Given the description of an element on the screen output the (x, y) to click on. 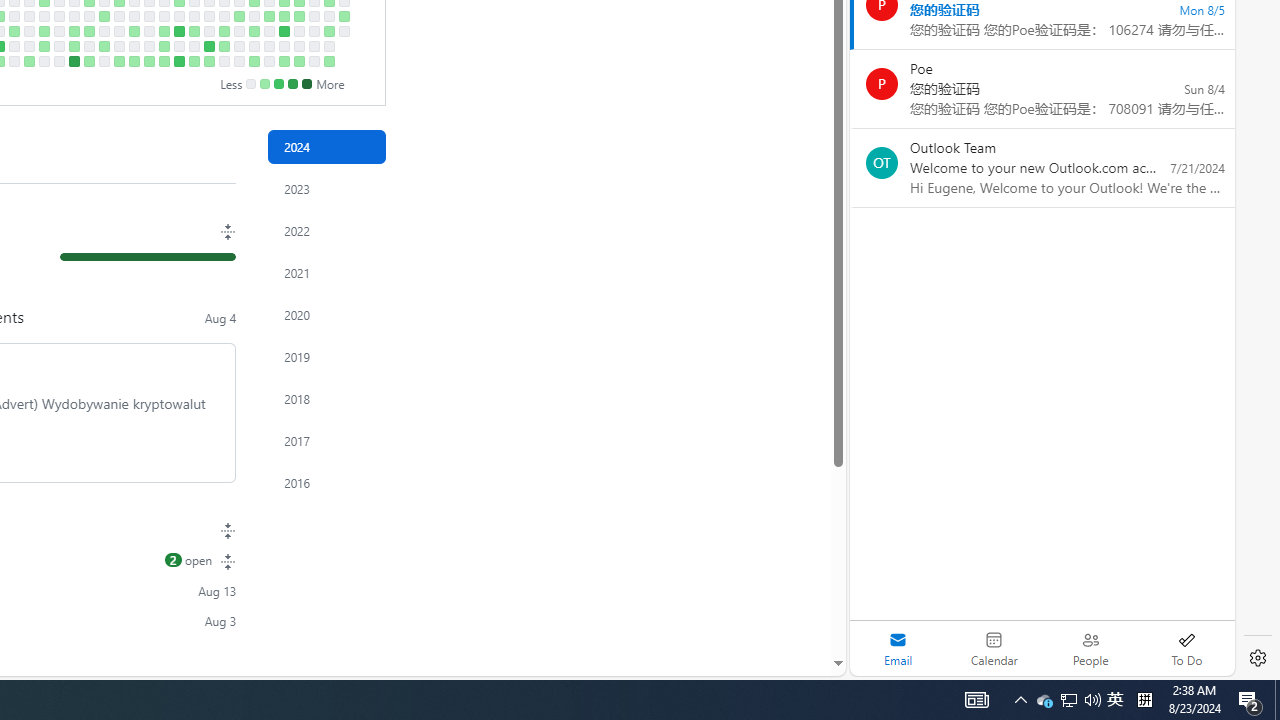
2 contributions on June 22nd. (209, 61)
No contributions on August 7th. (314, 16)
No contributions on June 19th. (209, 16)
2 contributions on July 11th. (253, 30)
2022 (326, 230)
1 contribution on April 25th. (88, 30)
1 contribution on May 31st. (163, 46)
No contributions on August 22nd. (343, 30)
No contributions on July 4th. (238, 30)
2018 (326, 399)
3 contributions on April 5th. (43, 46)
2 contributions on June 13th. (193, 30)
1 contribution on August 17th. (328, 61)
3 contributions on June 15th. (193, 61)
6 contributions on June 8th. (178, 61)
